Given the description of an element on the screen output the (x, y) to click on. 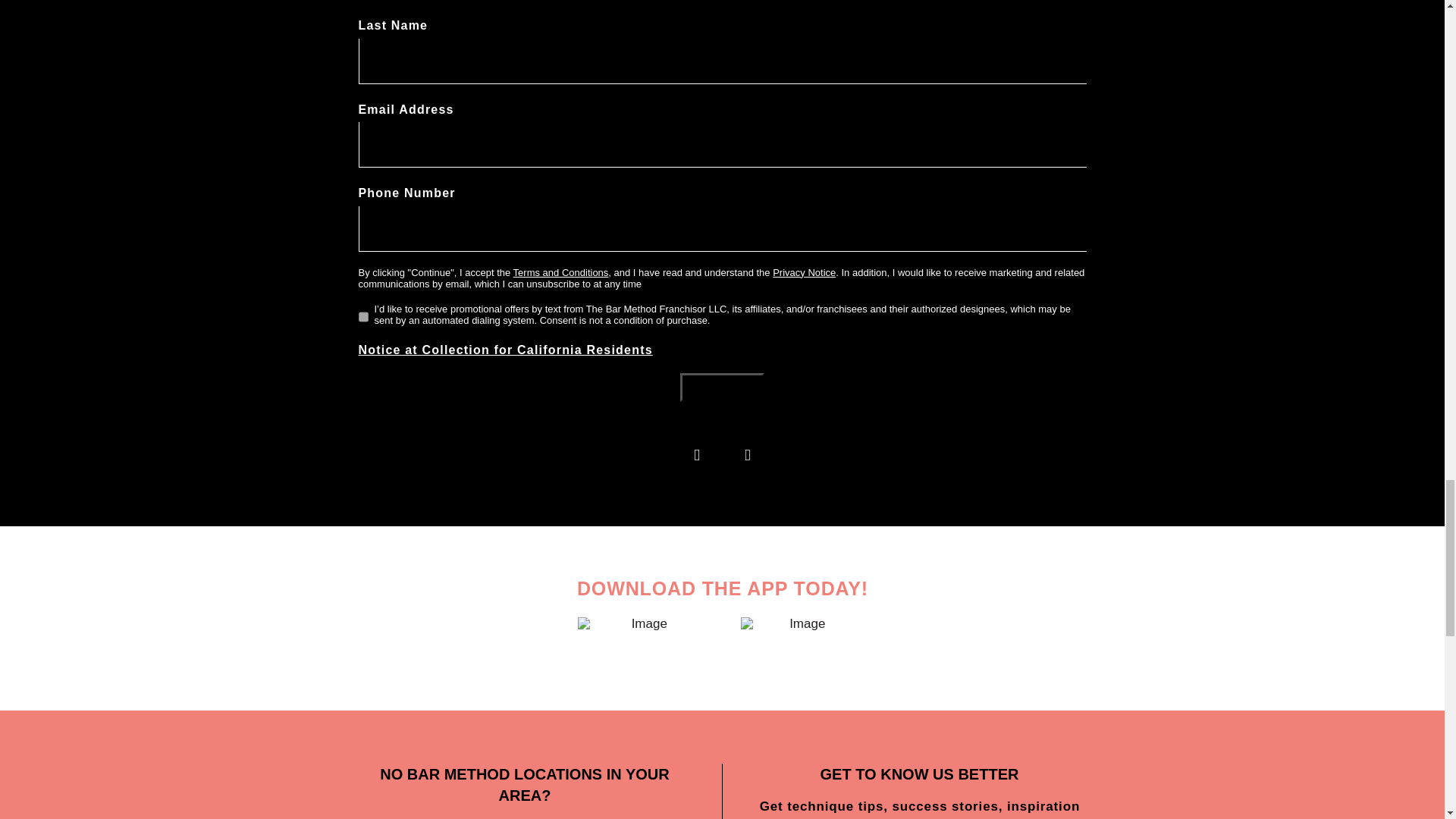
Terms and Conditions (560, 272)
SUBSCRIBE (721, 387)
Notice at Collection for California Residents (505, 349)
Privacy Notice (804, 272)
